Given the description of an element on the screen output the (x, y) to click on. 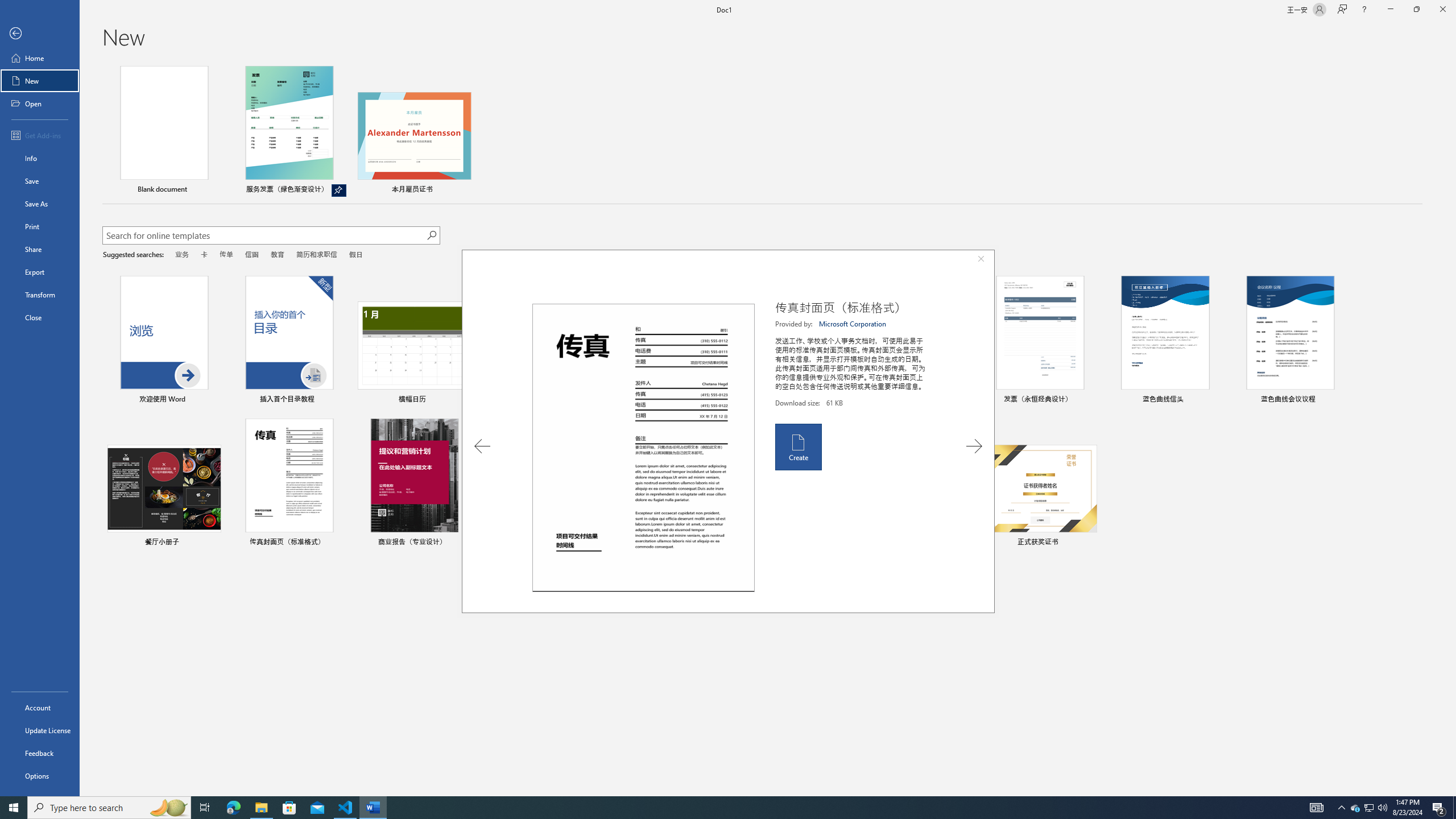
Back (40, 33)
Save As (40, 203)
